Given the description of an element on the screen output the (x, y) to click on. 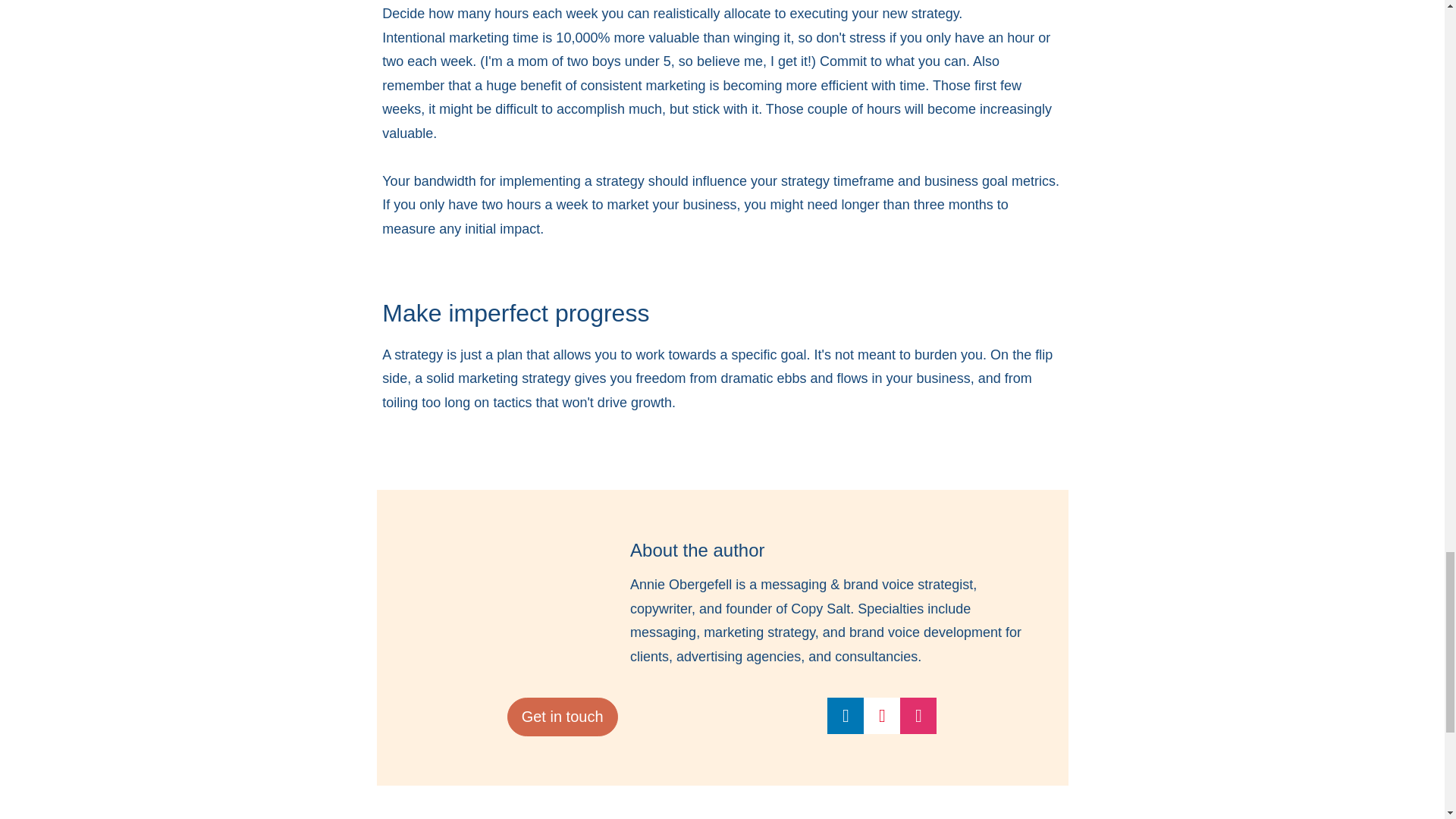
Share on LinkedIn (845, 715)
Share on Pinterest (881, 715)
Share on Instagram (917, 715)
Get in touch (561, 716)
